Given the description of an element on the screen output the (x, y) to click on. 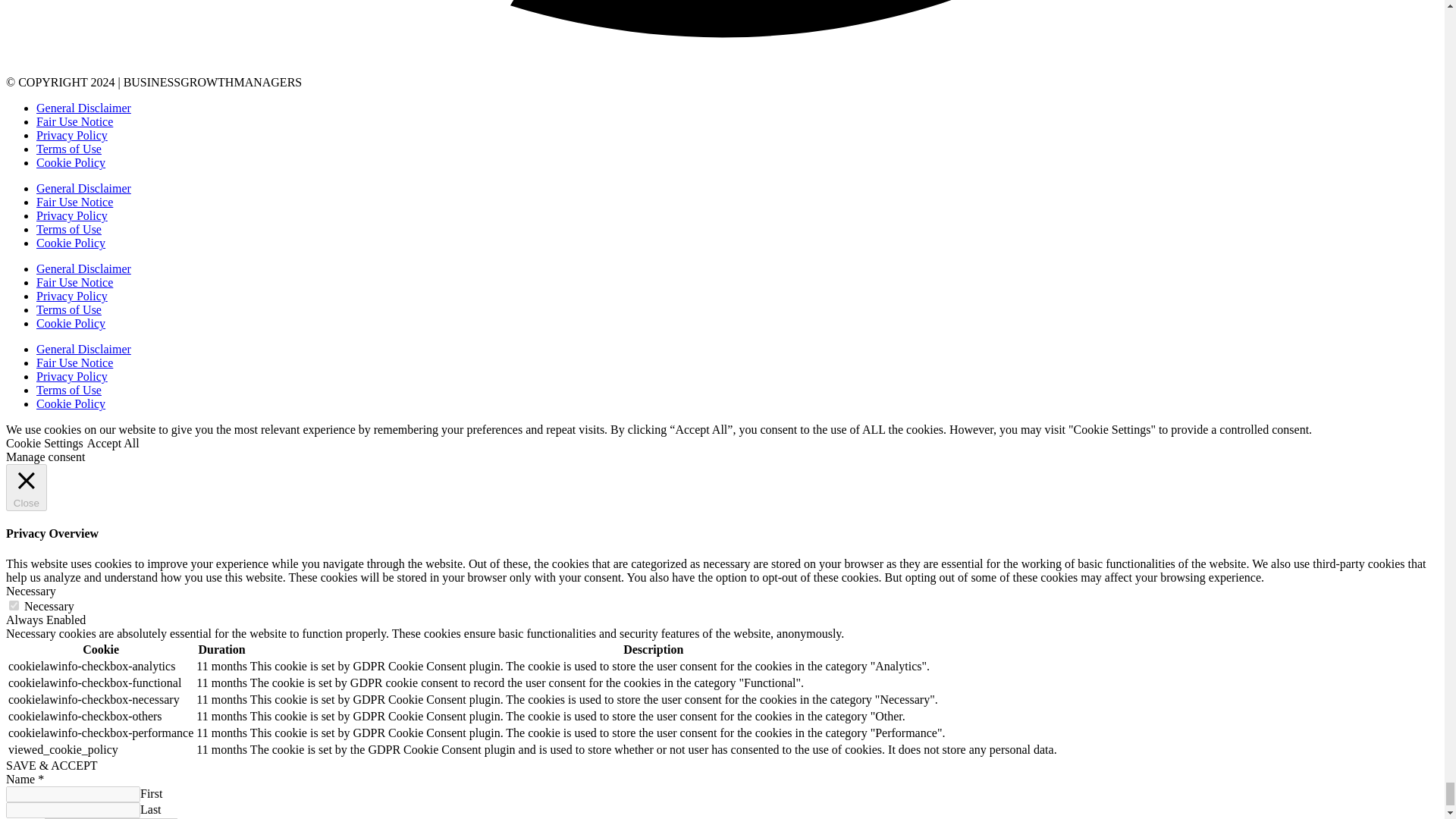
on (13, 605)
